Given the description of an element on the screen output the (x, y) to click on. 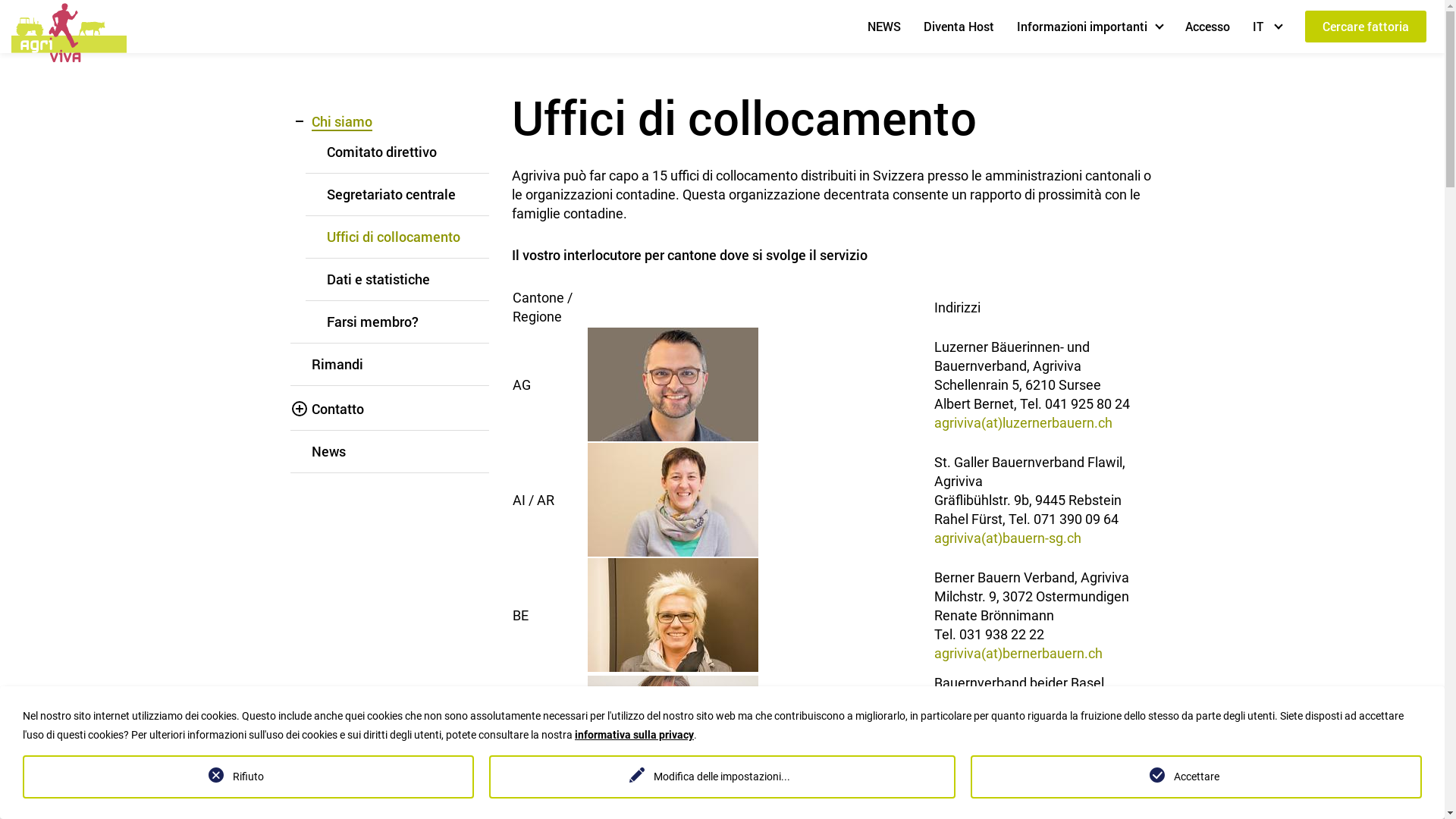
Diventa Host Element type: text (958, 25)
Rimandi Element type: text (336, 363)
Dati e statistiche Element type: text (377, 278)
Uffici di collocamento Element type: text (392, 236)
Chi siamo Element type: text (340, 121)
Accesso Element type: text (1207, 25)
Farsi membro? Element type: text (371, 321)
agriviva(at)bernerbauern.ch Element type: text (1018, 652)
News Element type: text (327, 451)
informativa sulla privacy Element type: text (633, 734)
agriviva(at)luzernerbauern.ch Element type: text (1023, 421)
Cercare fattoria Element type: text (1365, 26)
Informazioni importanti Element type: text (1089, 25)
agriviva(at)bauern-sg.ch Element type: text (1007, 537)
Comitato direttivo Element type: text (381, 151)
Contatto Element type: text (336, 408)
claudia.rossi[at]bvbb.ch Element type: text (1005, 758)
Accettare Element type: text (1195, 776)
Segretariato centrale Element type: text (390, 194)
NEWS Element type: text (883, 25)
Modifica delle impostazioni... Element type: text (722, 776)
IT Element type: text (1266, 25)
Rifiuto Element type: text (247, 776)
